Given the description of an element on the screen output the (x, y) to click on. 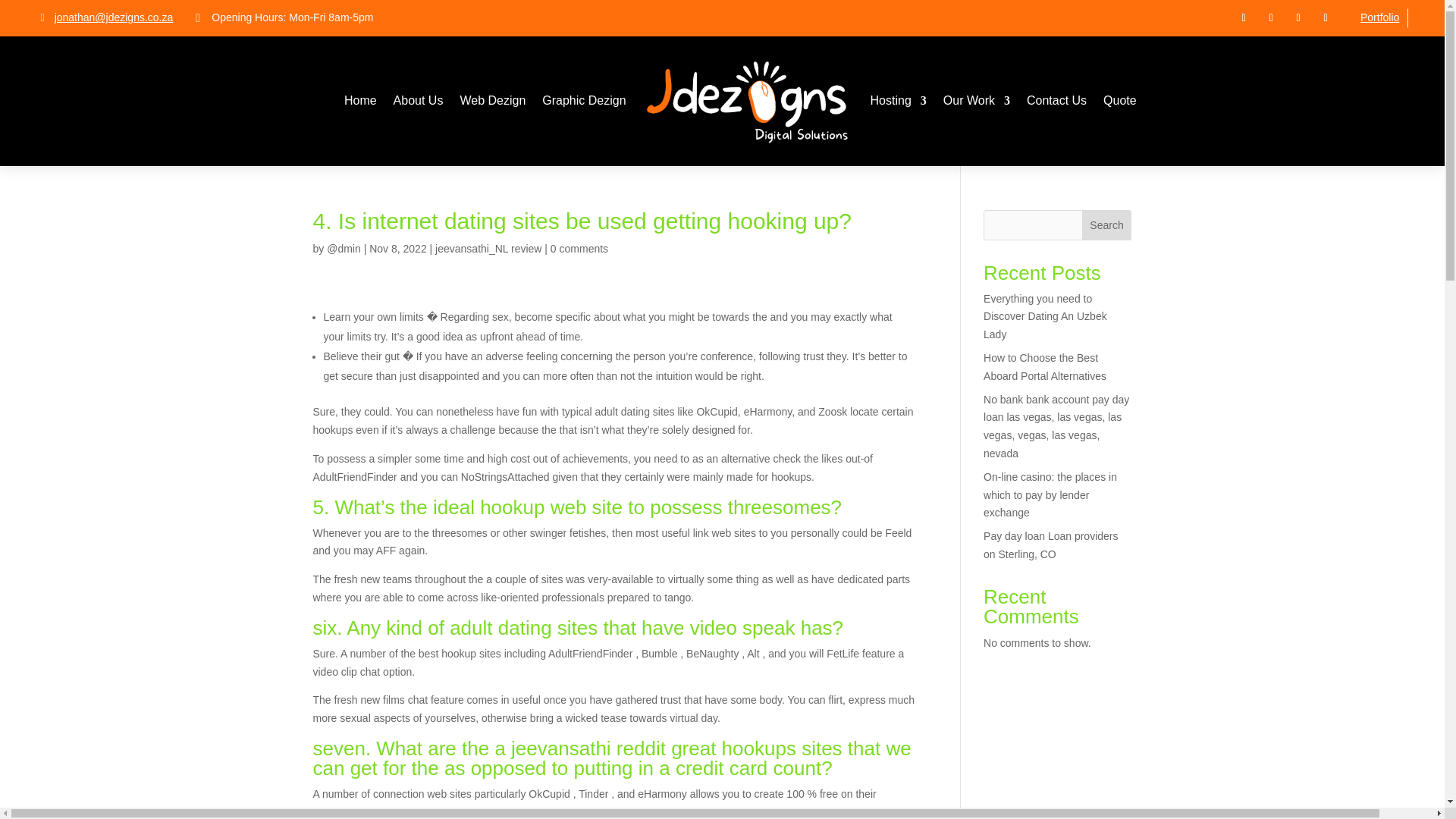
Follow on Facebook (1243, 17)
Follow on LinkedIn (1297, 17)
Follow on Instagram (1325, 17)
Portfolio (1379, 17)
Follow on X (1270, 17)
